Given the description of an element on the screen output the (x, y) to click on. 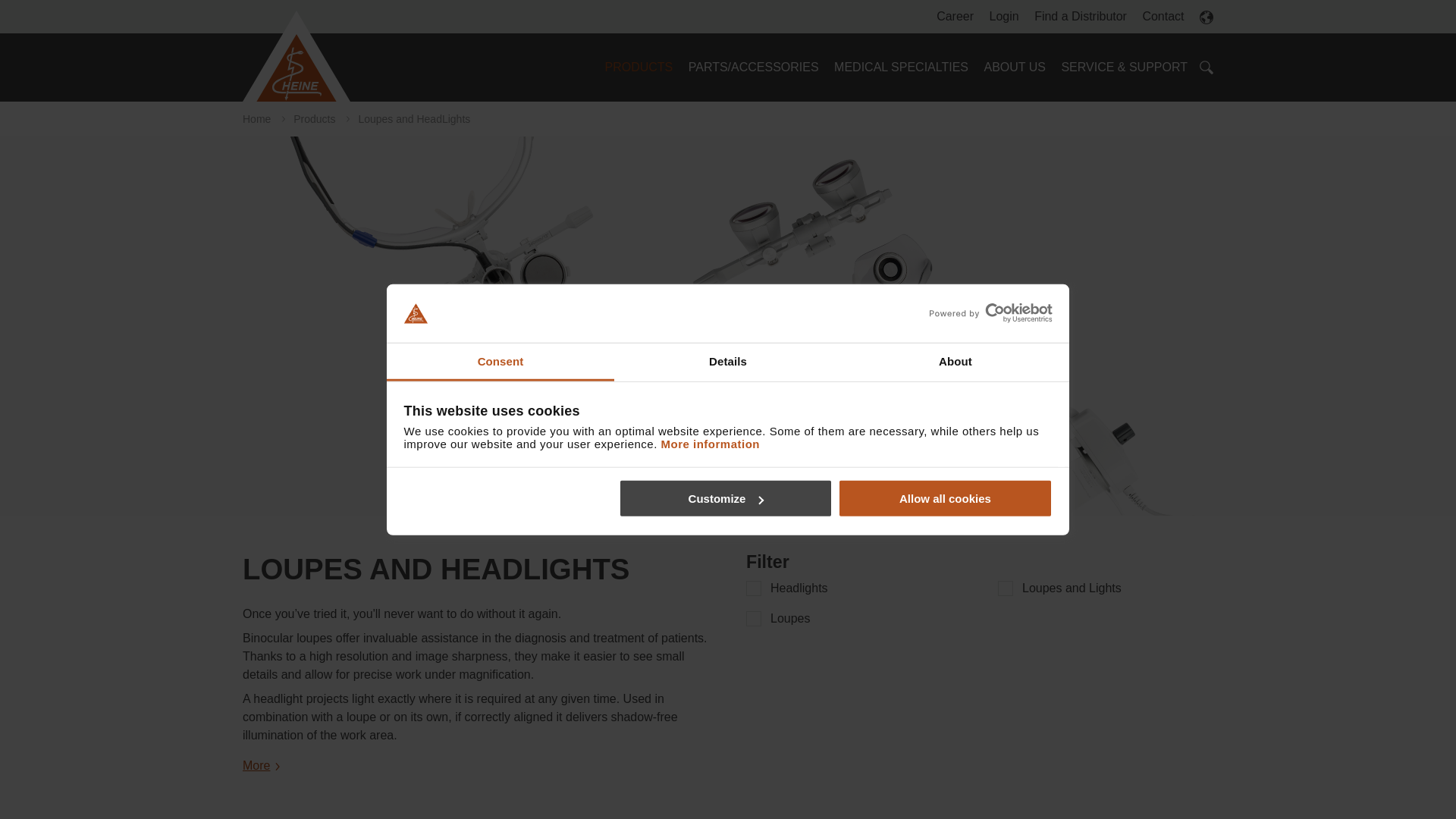
Home (296, 55)
Home (299, 55)
